Given the description of an element on the screen output the (x, y) to click on. 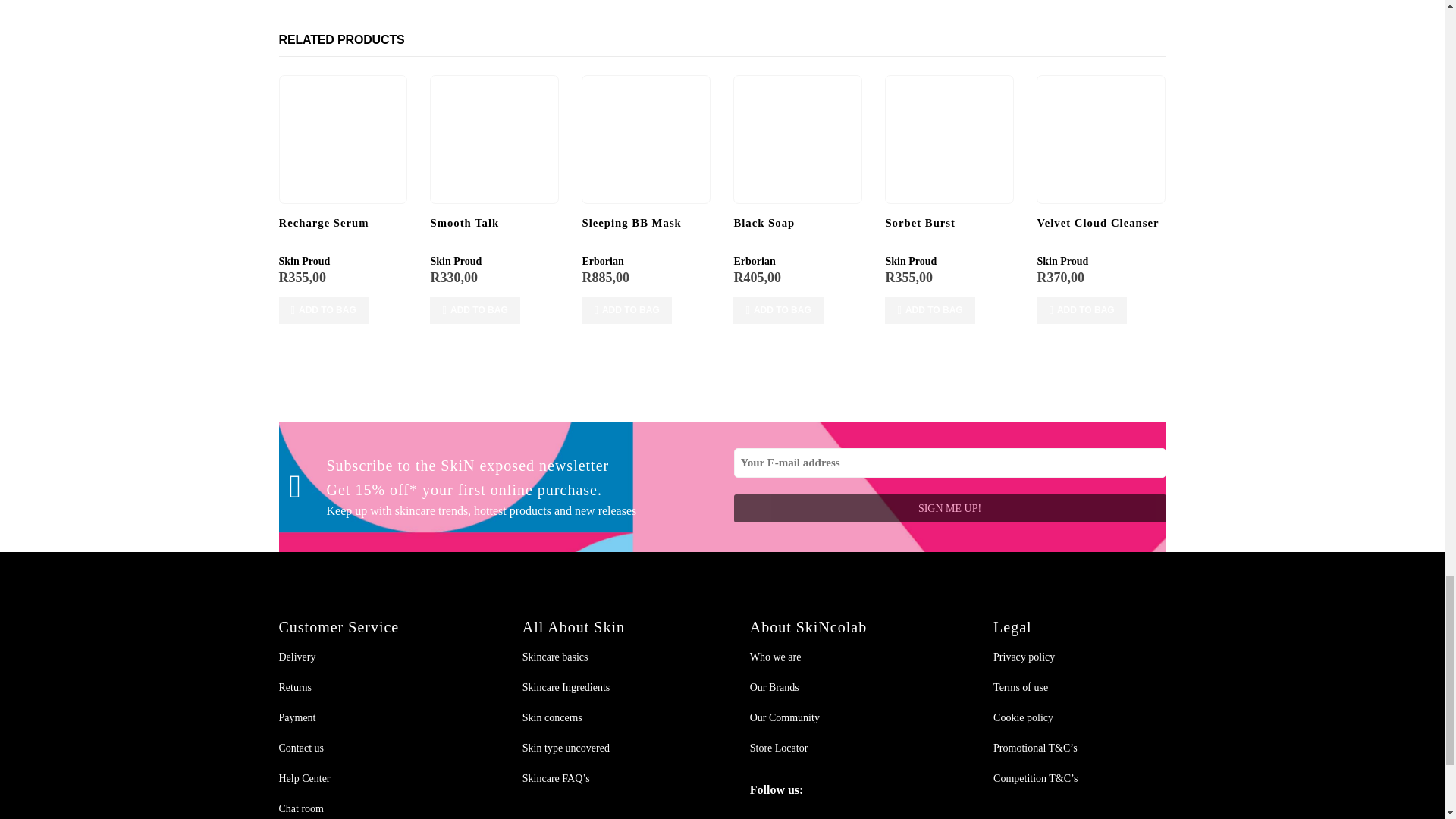
SIGN ME UP! (949, 508)
